Given the description of an element on the screen output the (x, y) to click on. 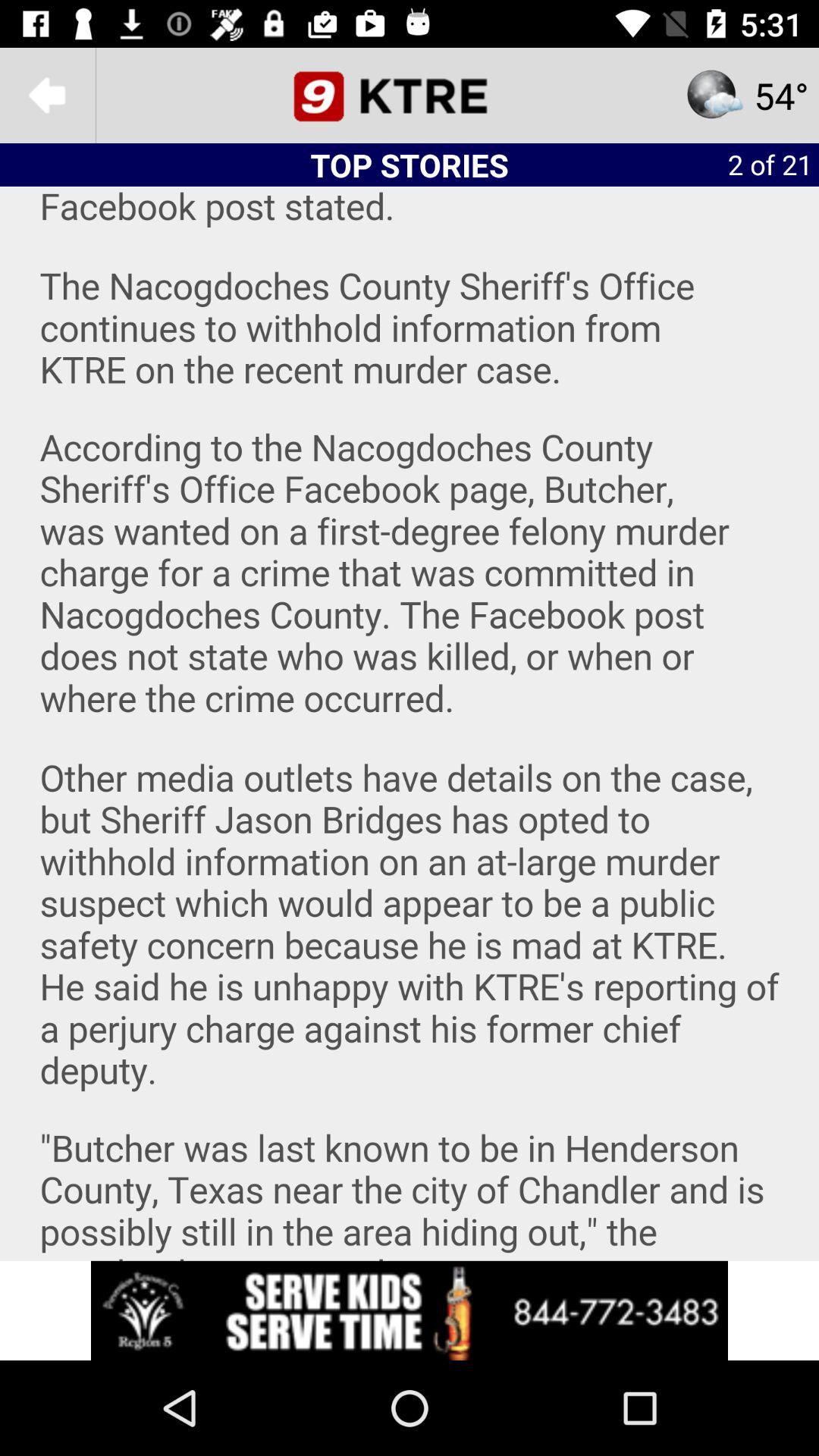
open news website (409, 95)
